Given the description of an element on the screen output the (x, y) to click on. 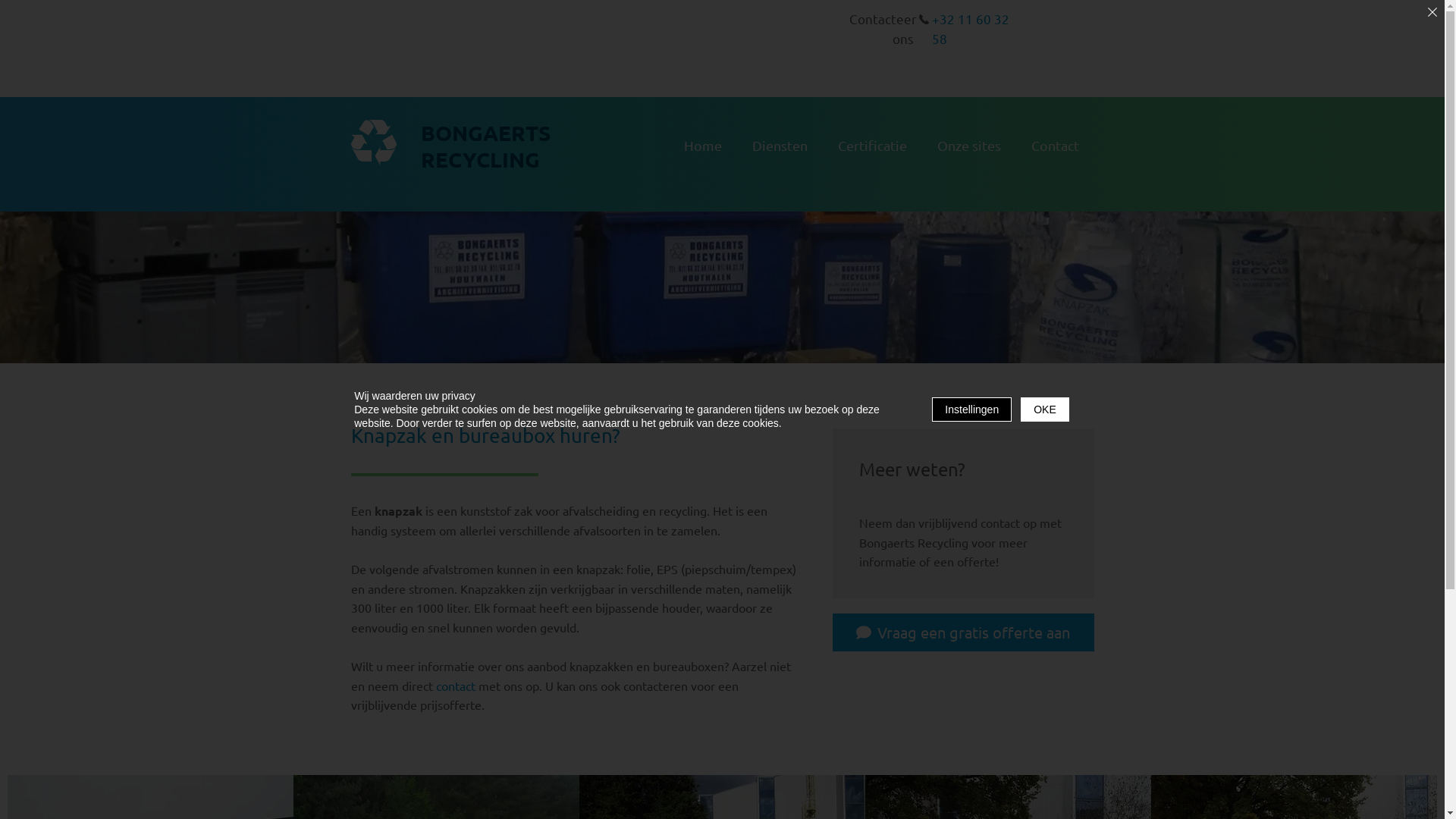
+32 11 60 32 58 Element type: text (969, 28)
Vraag een gratis offerte aan Element type: text (963, 632)
BONGAERTS RECYCLING Element type: text (484, 146)
OKE Element type: text (1044, 409)
Certificatie Element type: text (871, 145)
Onze sites Element type: text (969, 145)
Diensten Element type: text (779, 145)
Instellingen Element type: text (971, 409)
Contact Element type: text (1055, 145)
contact Element type: text (454, 685)
Home Element type: text (702, 145)
